Given the description of an element on the screen output the (x, y) to click on. 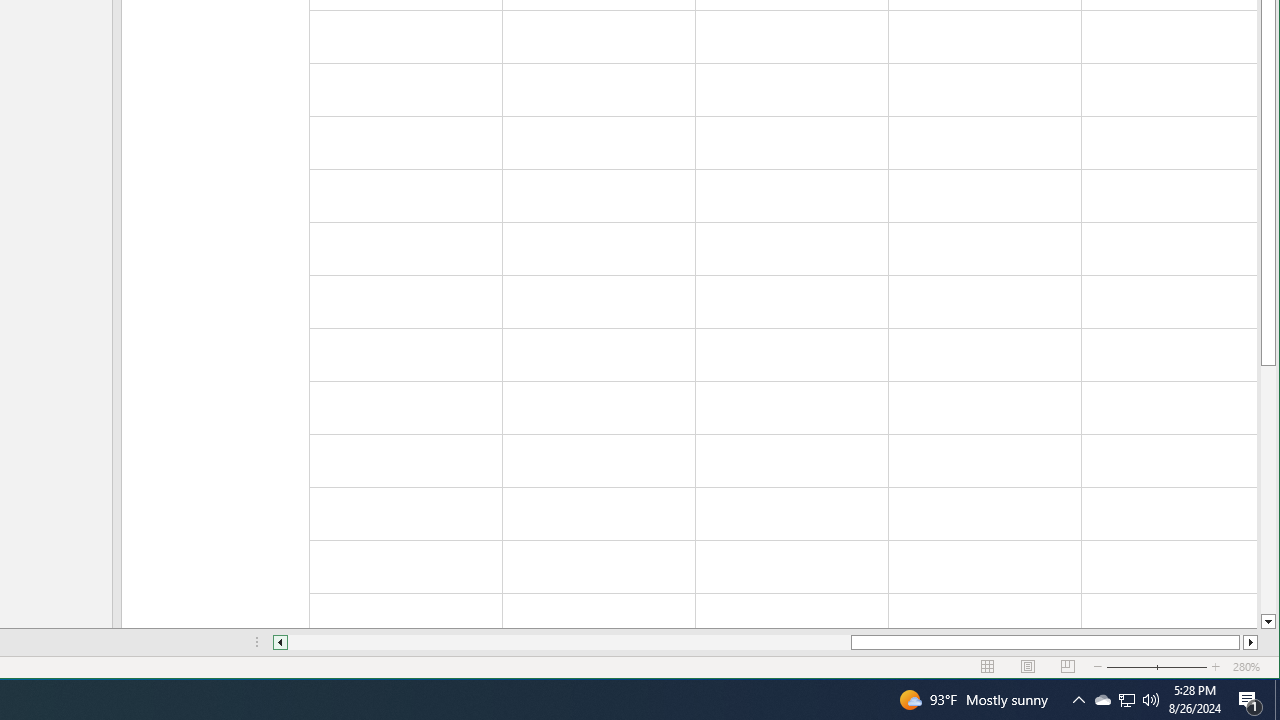
User Promoted Notification Area (1126, 699)
Notification Chevron (1078, 699)
